Given the description of an element on the screen output the (x, y) to click on. 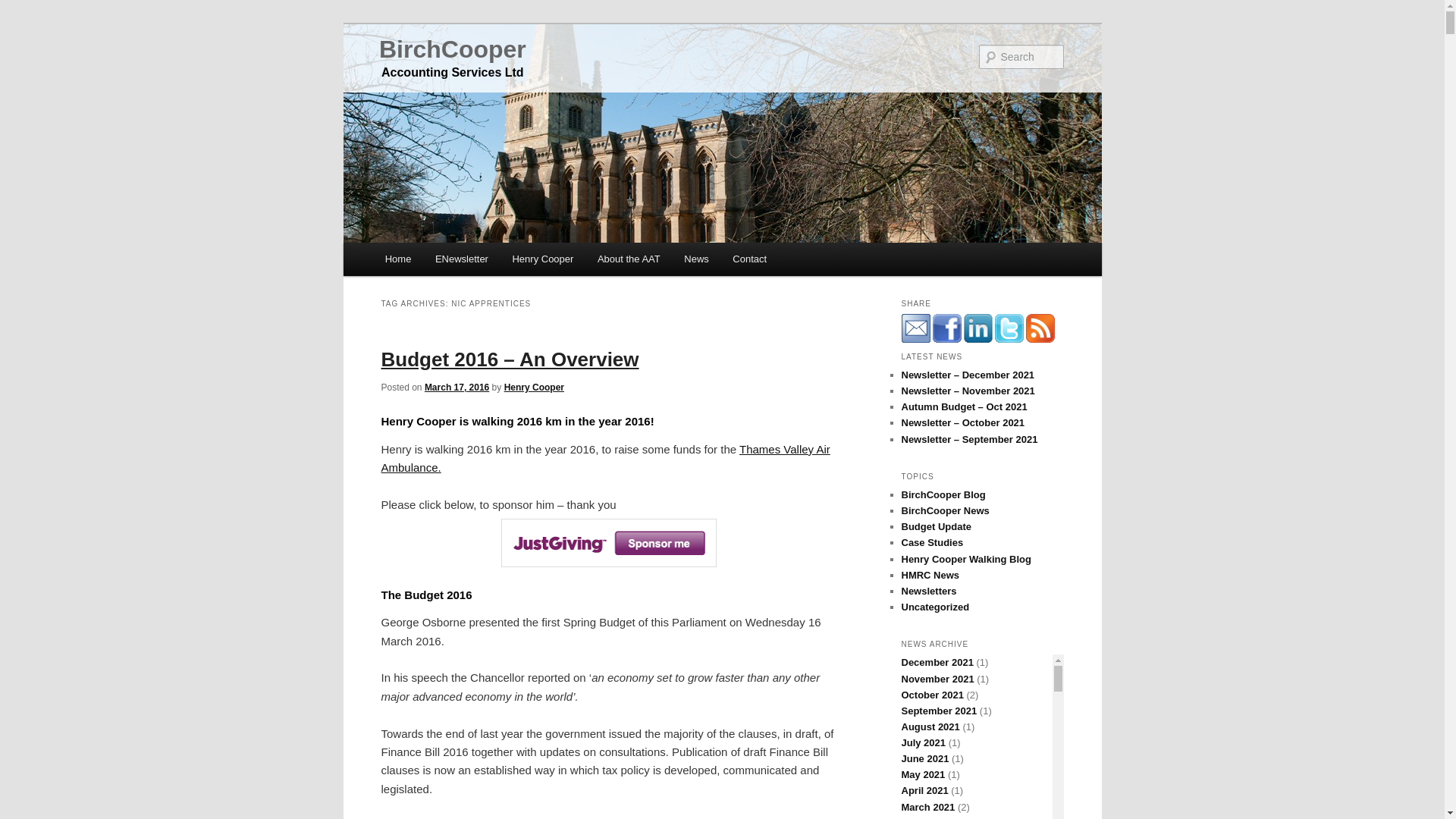
Skip to primary content (452, 261)
Thames Valley Air Ambulance. (604, 458)
Skip to secondary content (459, 261)
About the AAT (628, 258)
Search (24, 8)
follow us on twitter (1008, 328)
News (696, 258)
ENewsletter (461, 258)
JustGiving - Sponsor me now! (607, 553)
March 17, 2016 (457, 387)
Skip to primary content (452, 261)
BirchCooper (451, 49)
meet me on linked in (976, 328)
Home (397, 258)
Henry Cooper (542, 258)
